Given the description of an element on the screen output the (x, y) to click on. 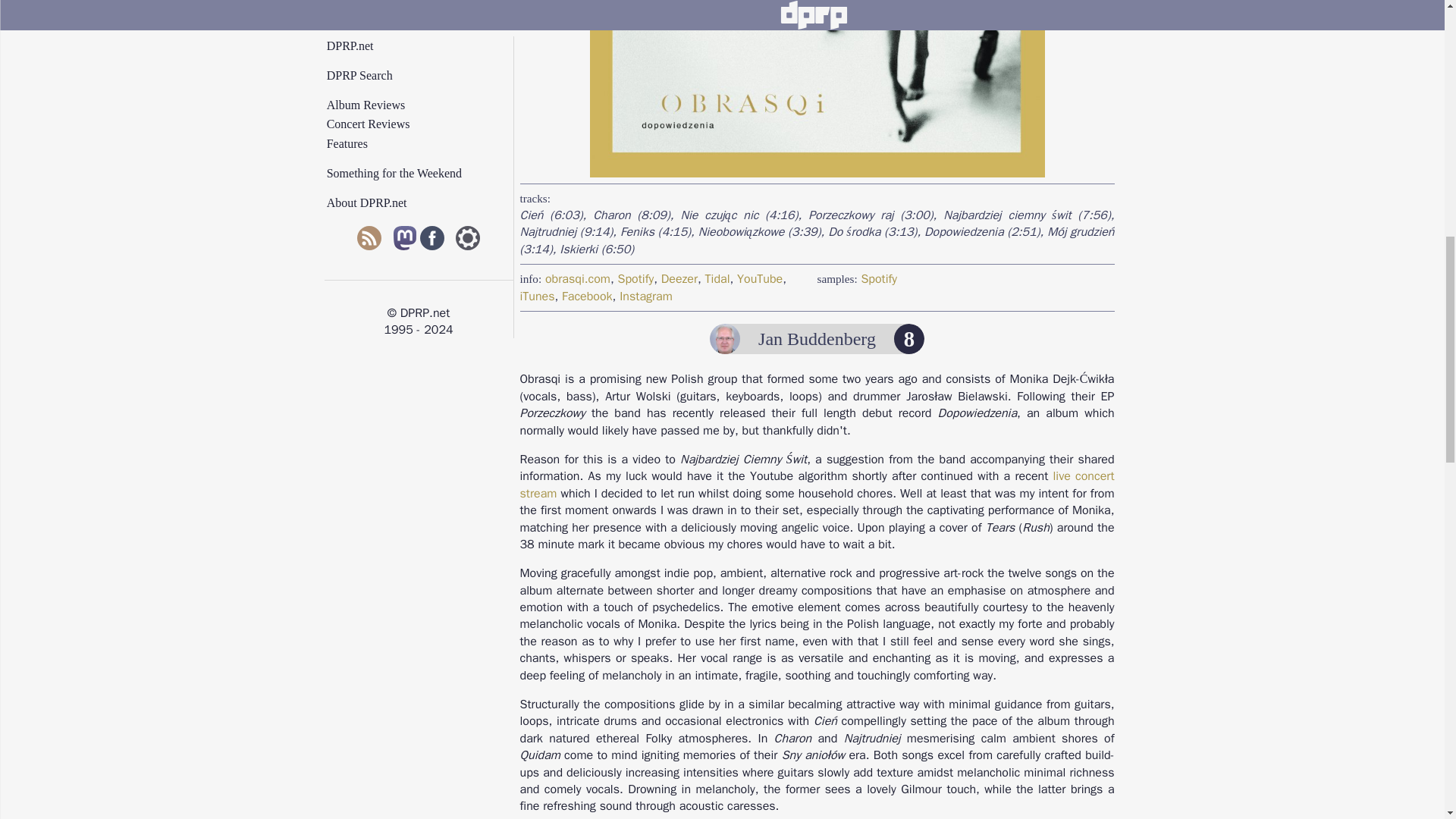
Deezer (679, 278)
Facebook (586, 296)
Tidal (717, 278)
Spotify (635, 278)
obrasqi.com (577, 278)
iTunes (536, 296)
Instagram (646, 296)
YouTube (759, 278)
Spotify (878, 278)
live concert stream (817, 484)
